Given the description of an element on the screen output the (x, y) to click on. 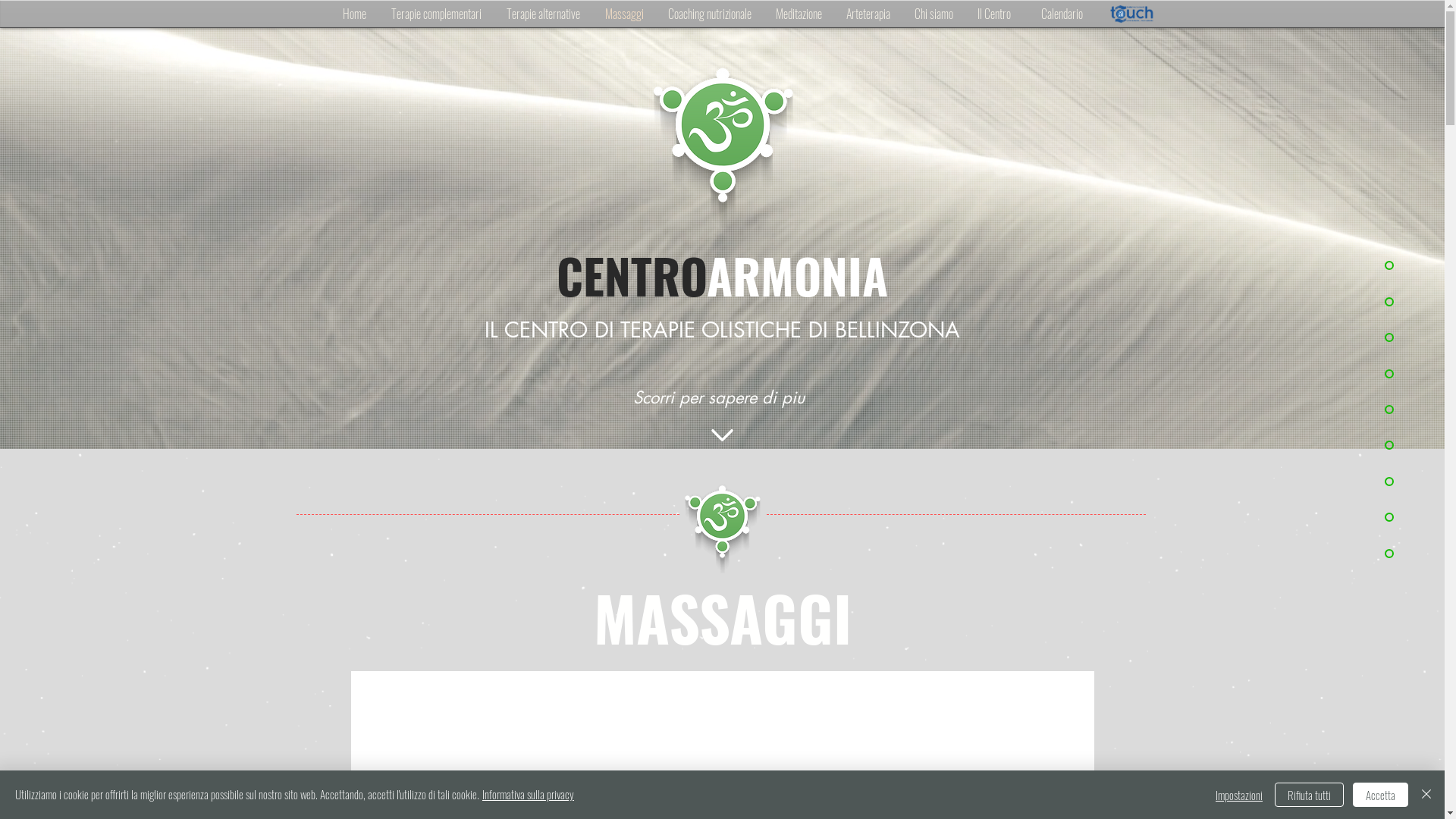
Accetta Element type: text (1380, 794)
Centro Armonia Element type: hover (721, 144)
Il Centro Element type: text (993, 13)
Terapie complementari Element type: text (436, 13)
Centro Armoni Element type: hover (721, 527)
Rifiuta tutti Element type: text (1308, 794)
Terapie alternative Element type: text (543, 13)
Calendario Element type: text (1061, 13)
Informativa sulla privacy Element type: text (528, 793)
Meditazione Element type: text (797, 13)
Home Element type: text (354, 13)
Coaching nutrizionale Element type: text (708, 13)
Massaggi Element type: text (624, 13)
Arteterapia Element type: text (868, 13)
Chi siamo Element type: text (933, 13)
